Given the description of an element on the screen output the (x, y) to click on. 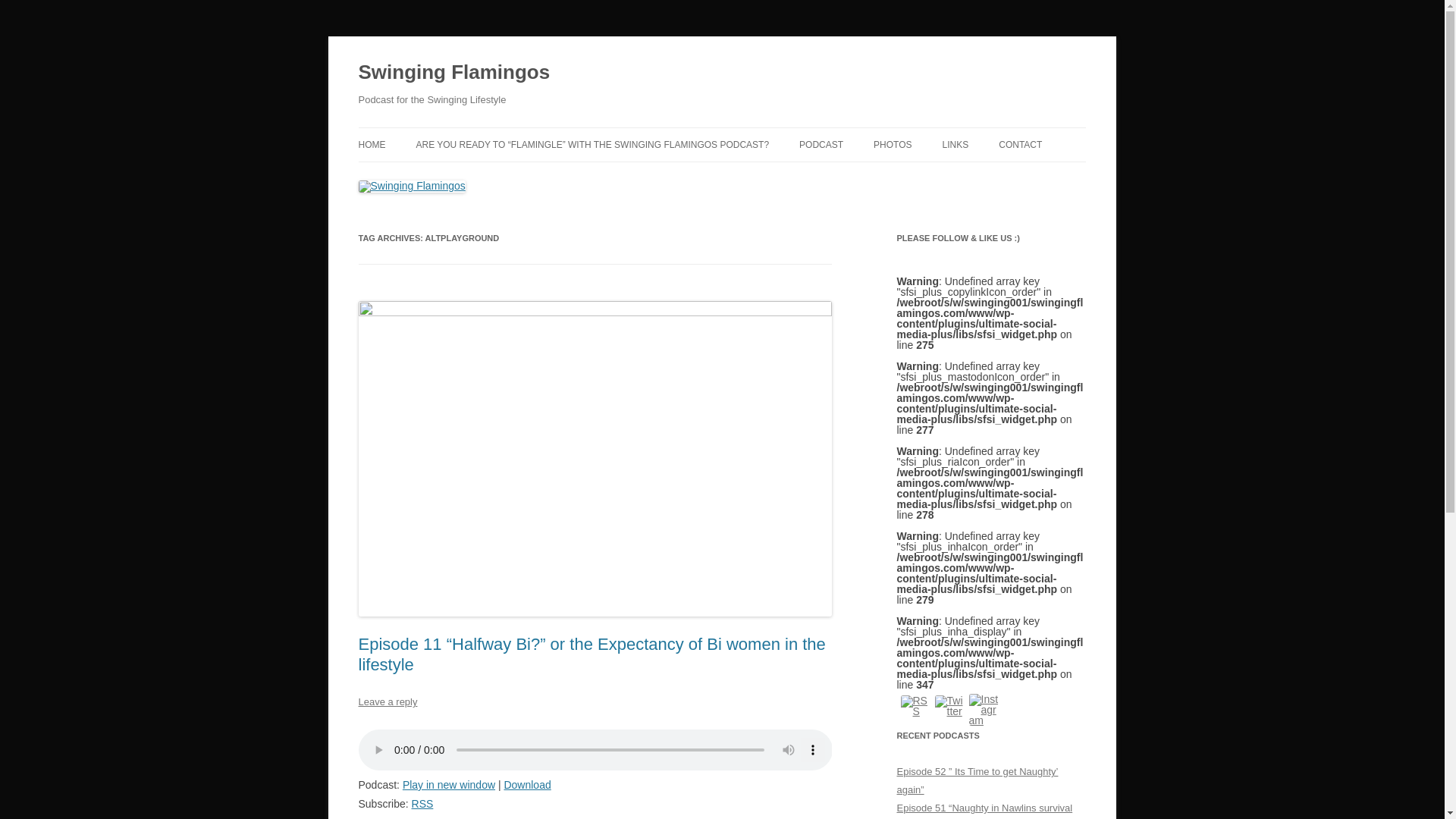
RSS (916, 705)
Download (526, 784)
Swinging Flamingos (454, 72)
Download (526, 784)
Subscribe via RSS (422, 803)
Swinging Flamingos (454, 72)
Instagram (983, 709)
PODCAST (821, 144)
RSS (422, 803)
